Given the description of an element on the screen output the (x, y) to click on. 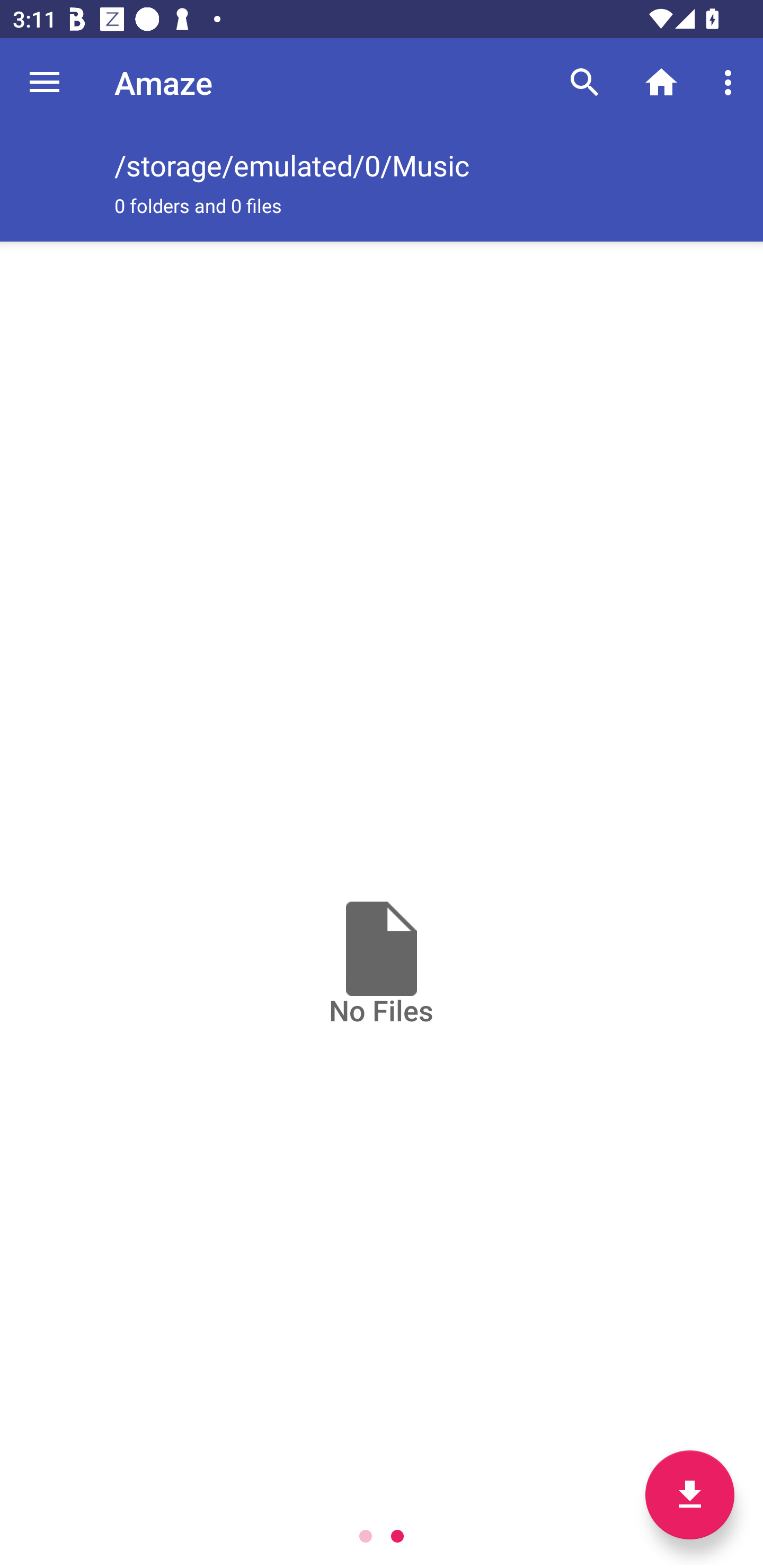
Navigate up (44, 82)
Search (585, 81)
Home (661, 81)
More options (731, 81)
